Given the description of an element on the screen output the (x, y) to click on. 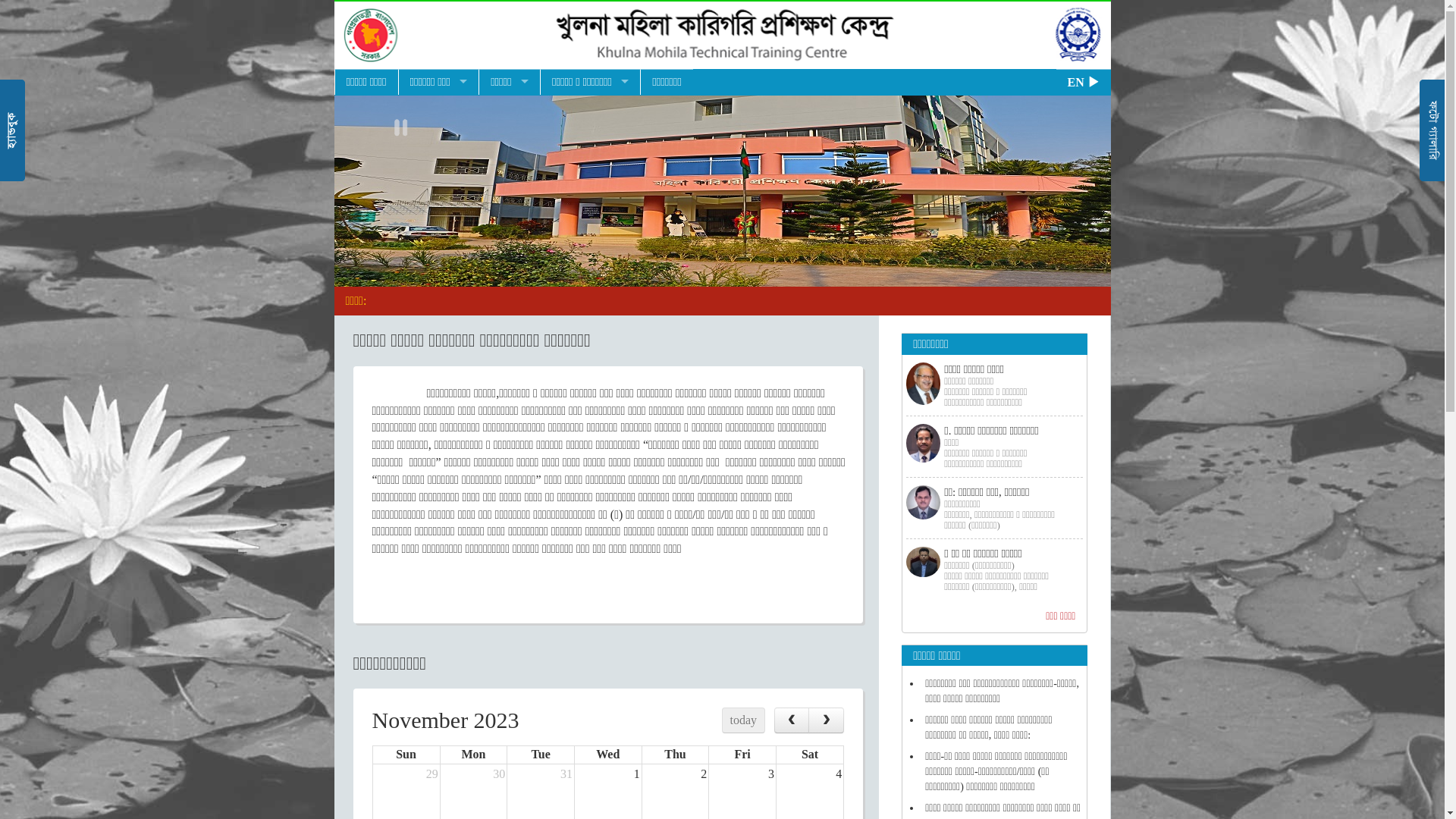
EN Element type: text (1083, 81)
today Element type: text (743, 720)
